Given the description of an element on the screen output the (x, y) to click on. 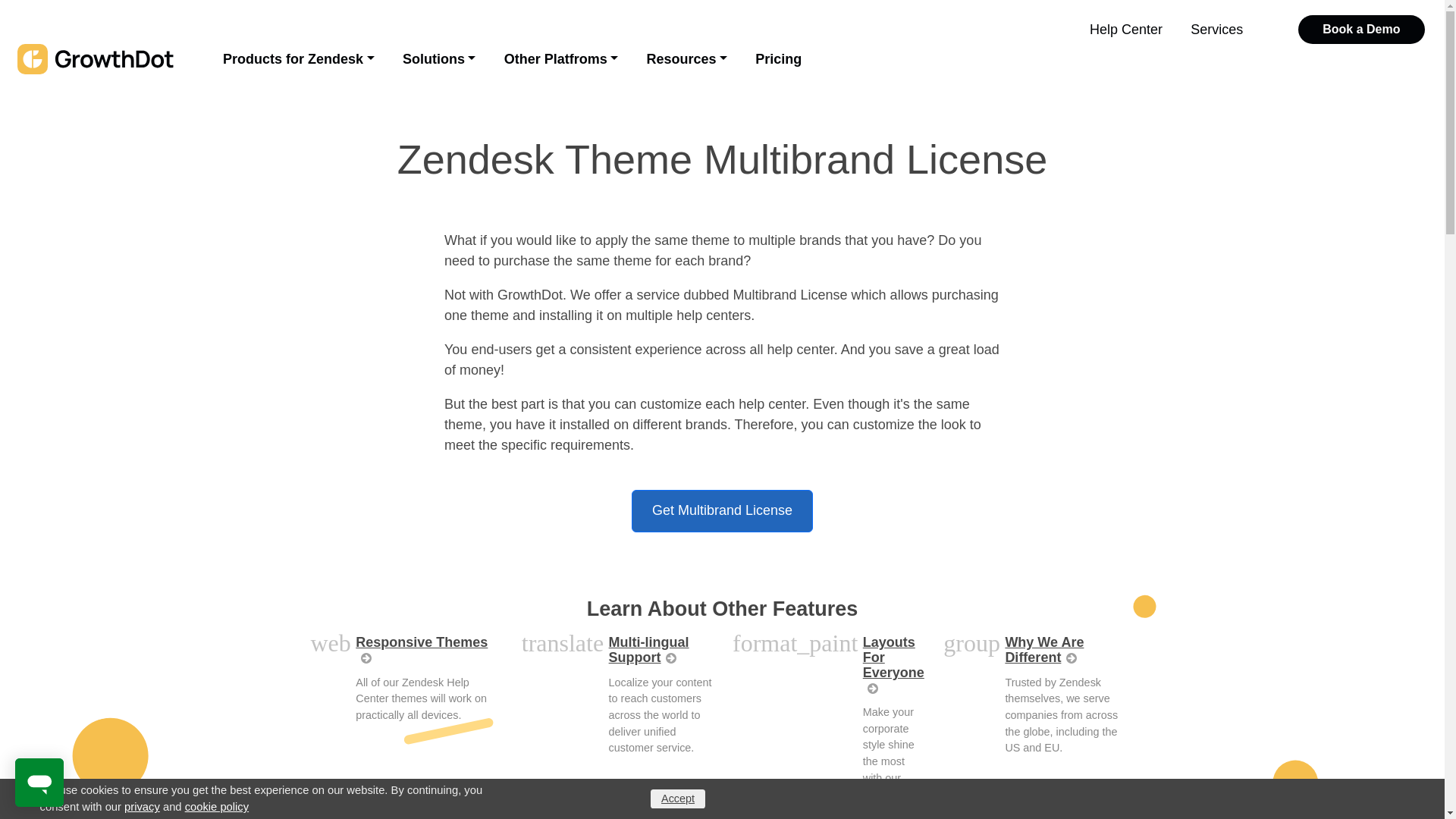
Help Center (1125, 29)
Services (1216, 29)
Book a Demo (1361, 29)
Solutions (439, 58)
Services (1216, 29)
Book a Demo (1361, 29)
Products for Zendesk (298, 58)
Products for Zendesk (298, 58)
Help Center (1125, 29)
